Given the description of an element on the screen output the (x, y) to click on. 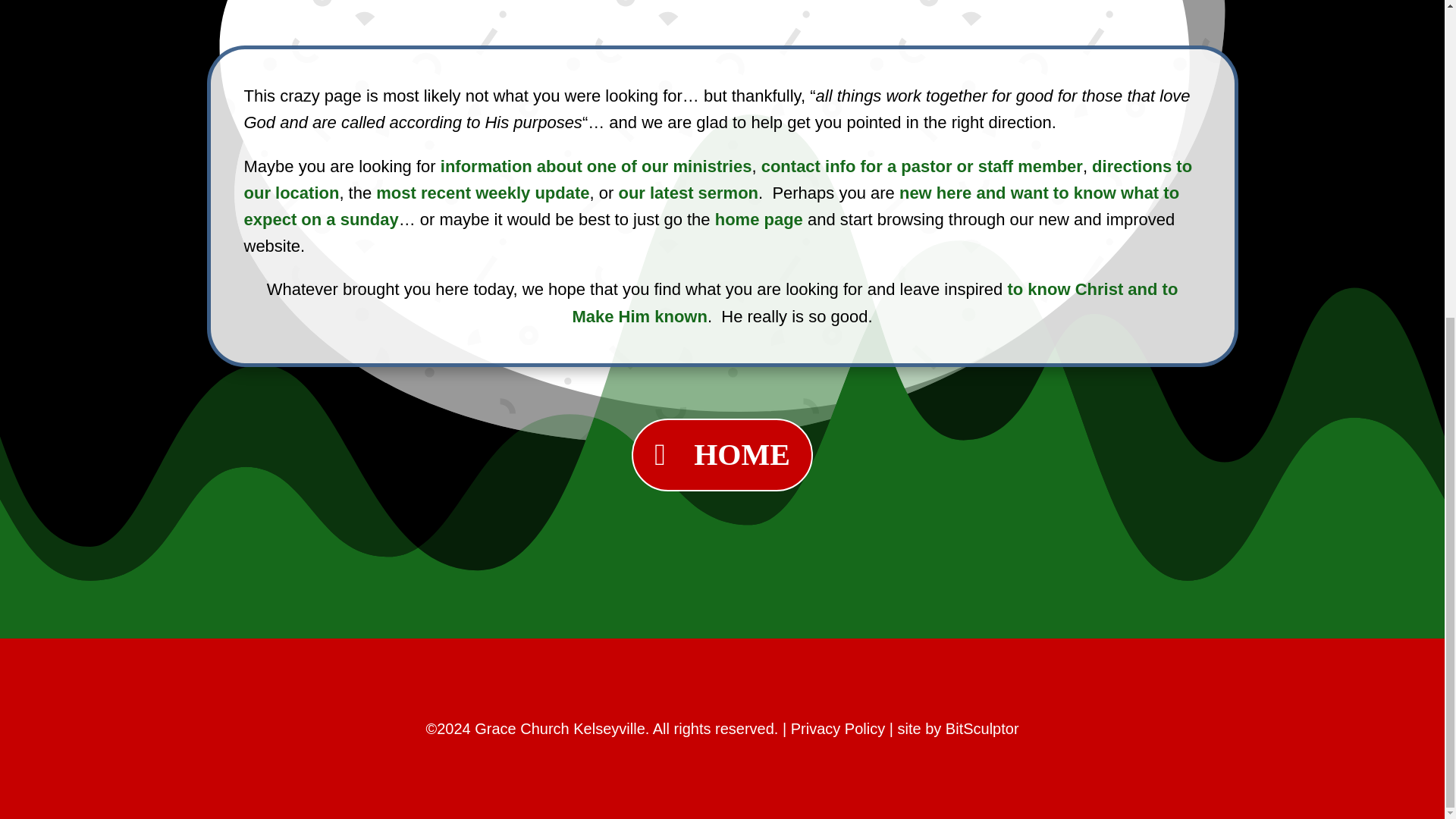
new here and want to know what to expect on a sunday (711, 206)
most recent weekly update (482, 192)
BitSculptor (981, 728)
Privacy Policy (837, 728)
home page (758, 219)
contact info for a pastor or staff member (922, 166)
HOME (721, 454)
information about one of our ministries (596, 166)
our latest sermon (687, 192)
to know Christ and to Make Him known (874, 302)
